Given the description of an element on the screen output the (x, y) to click on. 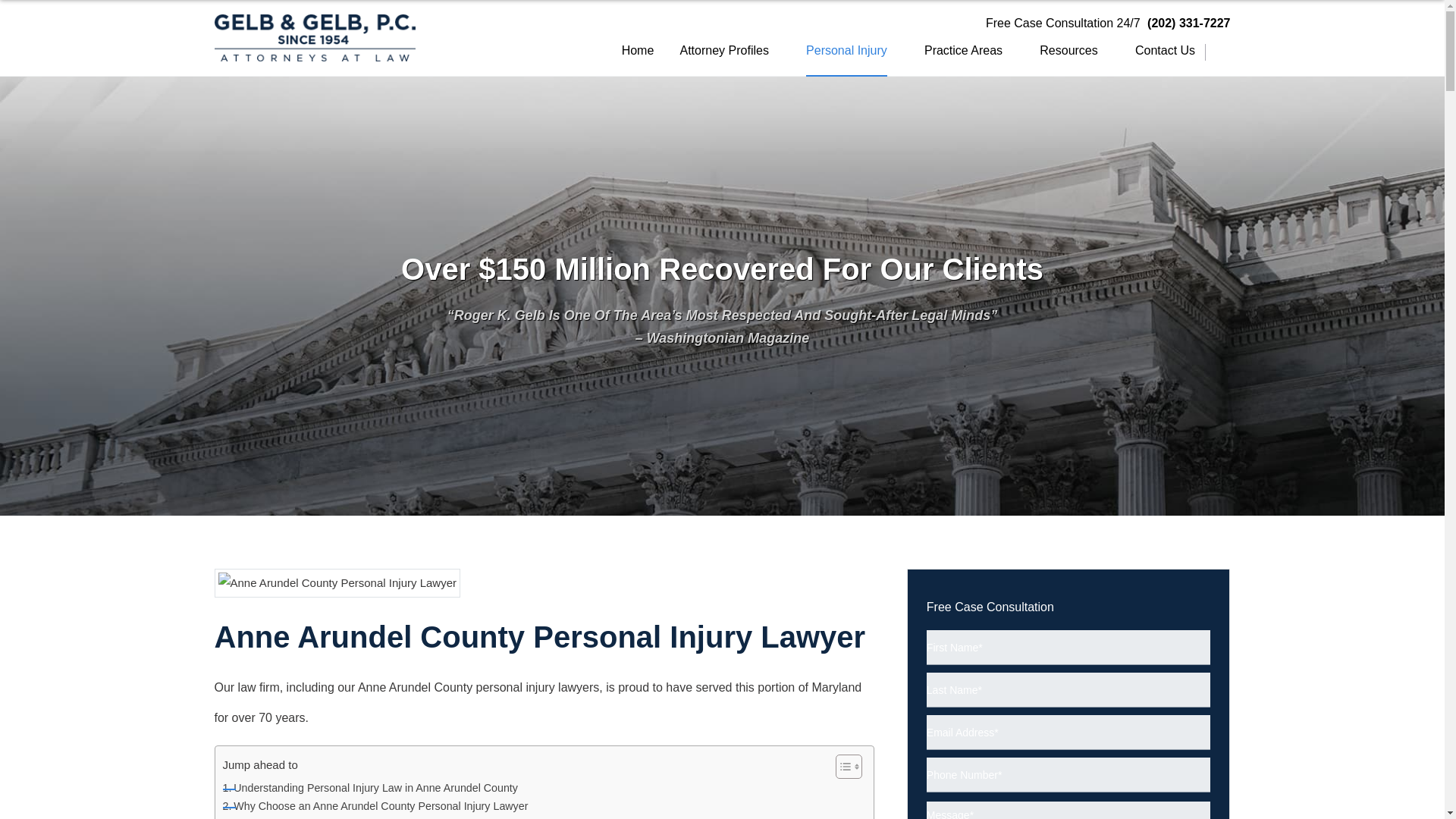
Understanding Personal Injury Law in Anne Arundel County (370, 787)
Home (637, 58)
Attorney Profiles (723, 58)
Why Choose an Anne Arundel County Personal Injury Lawyer (375, 805)
Why Choose a Local Attorney (311, 816)
Personal Injury (846, 58)
